Given the description of an element on the screen output the (x, y) to click on. 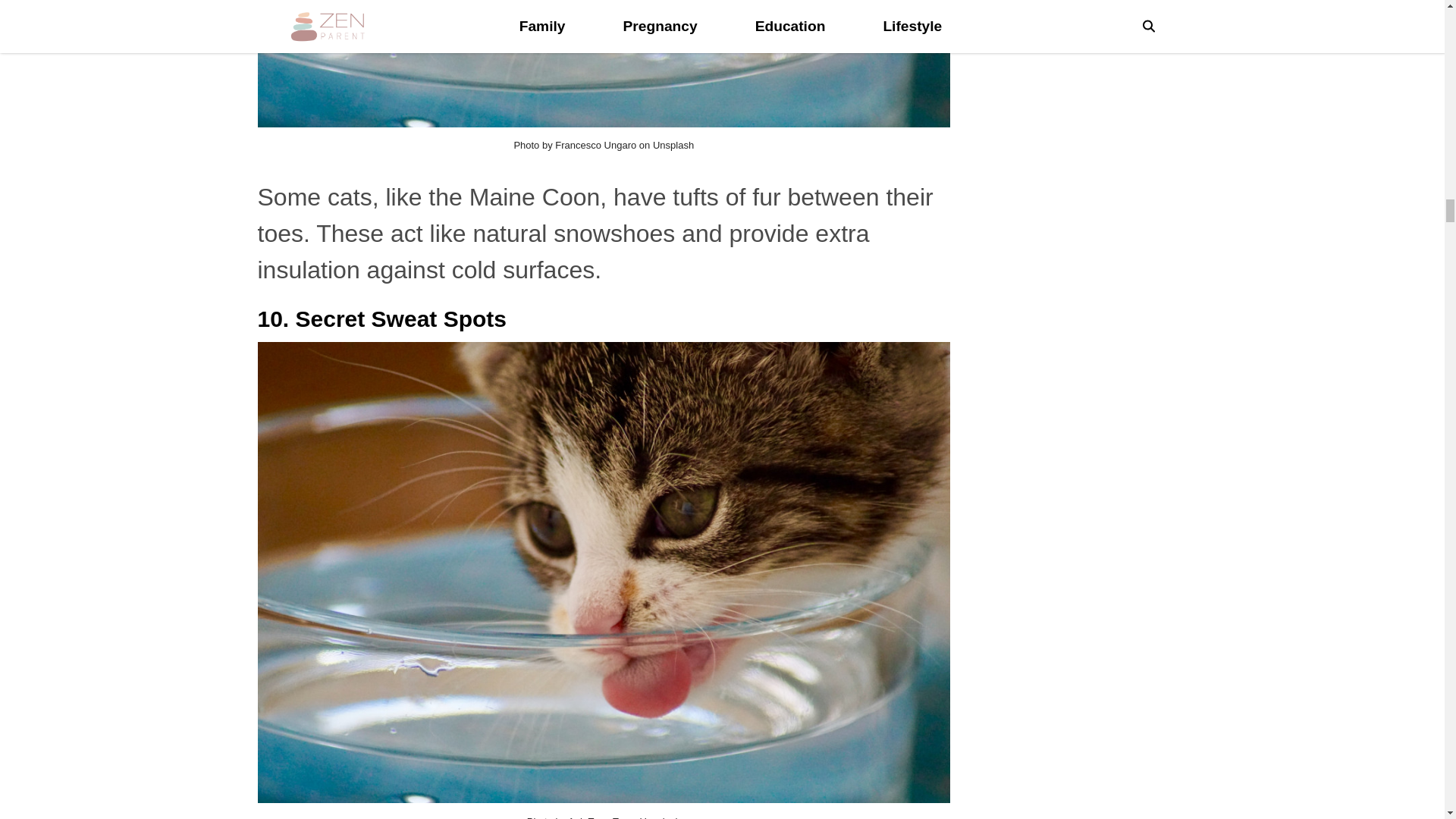
Photo by Francesco Ungaro on Unsplash (603, 144)
Photo by Anh Tuan To on Unsplash (604, 817)
